Given the description of an element on the screen output the (x, y) to click on. 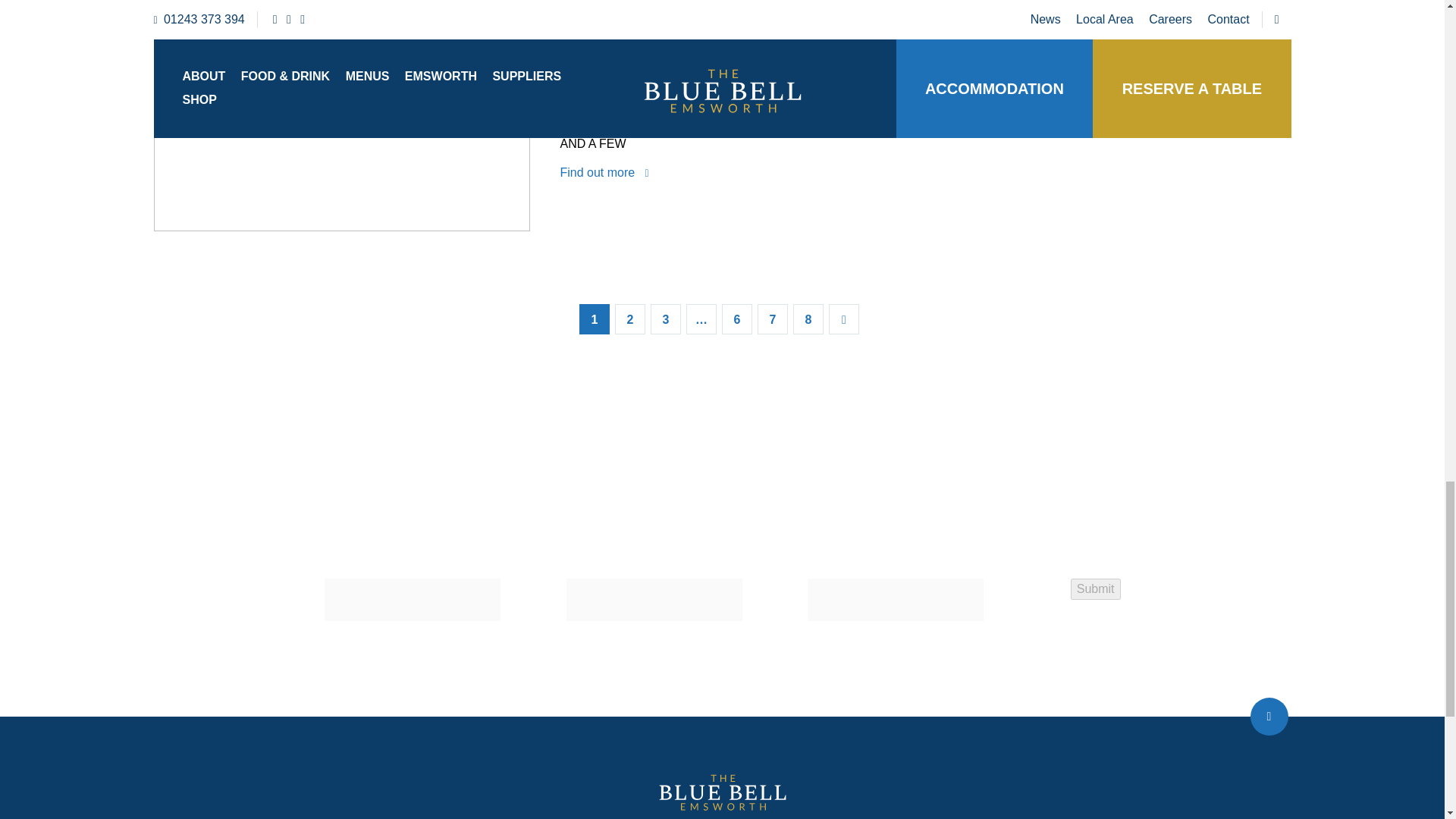
Submit (1095, 588)
